Given the description of an element on the screen output the (x, y) to click on. 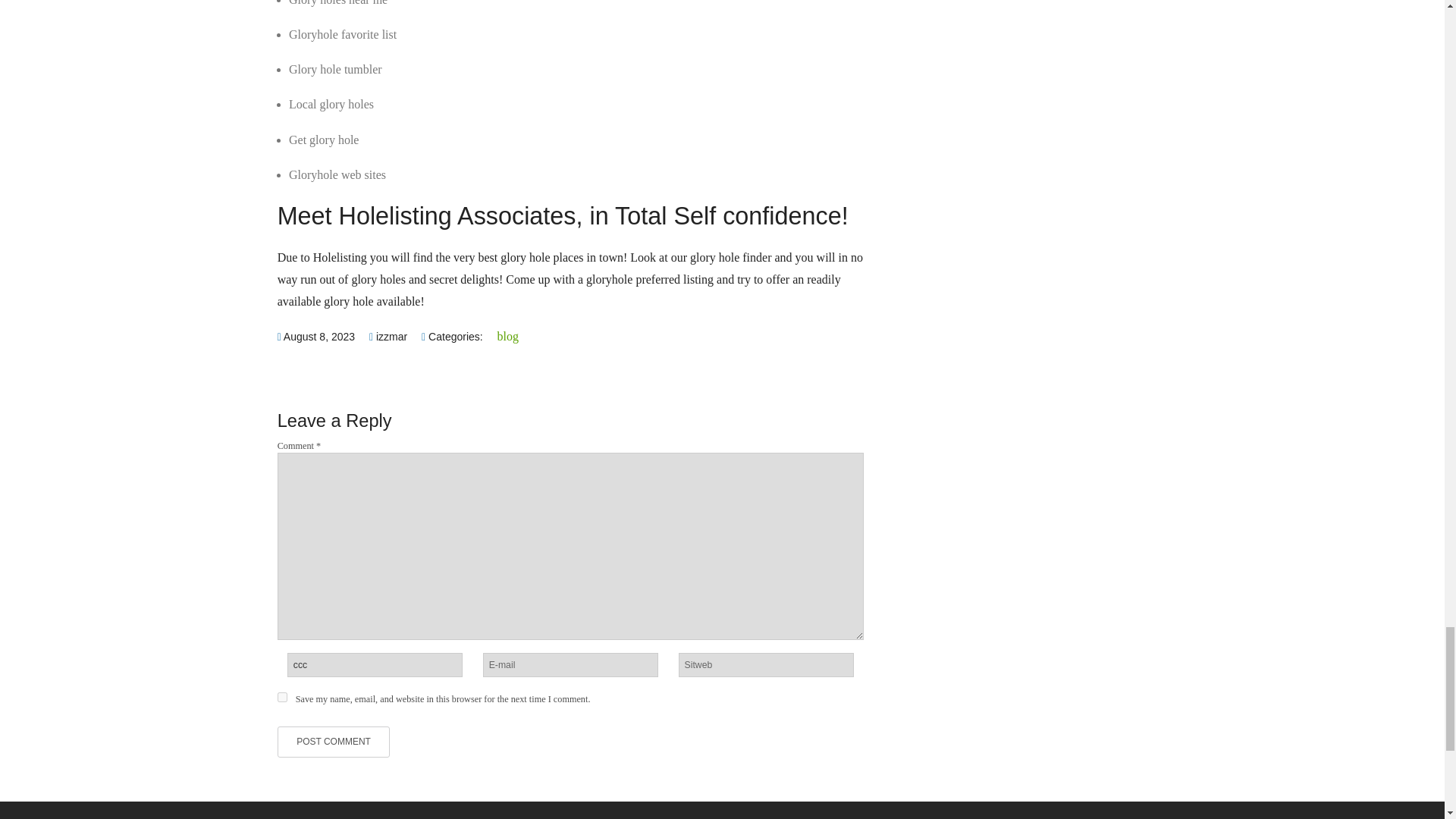
blog (507, 336)
Post Comment (334, 741)
ccc (374, 664)
yes (282, 696)
Post Comment (334, 741)
